Given the description of an element on the screen output the (x, y) to click on. 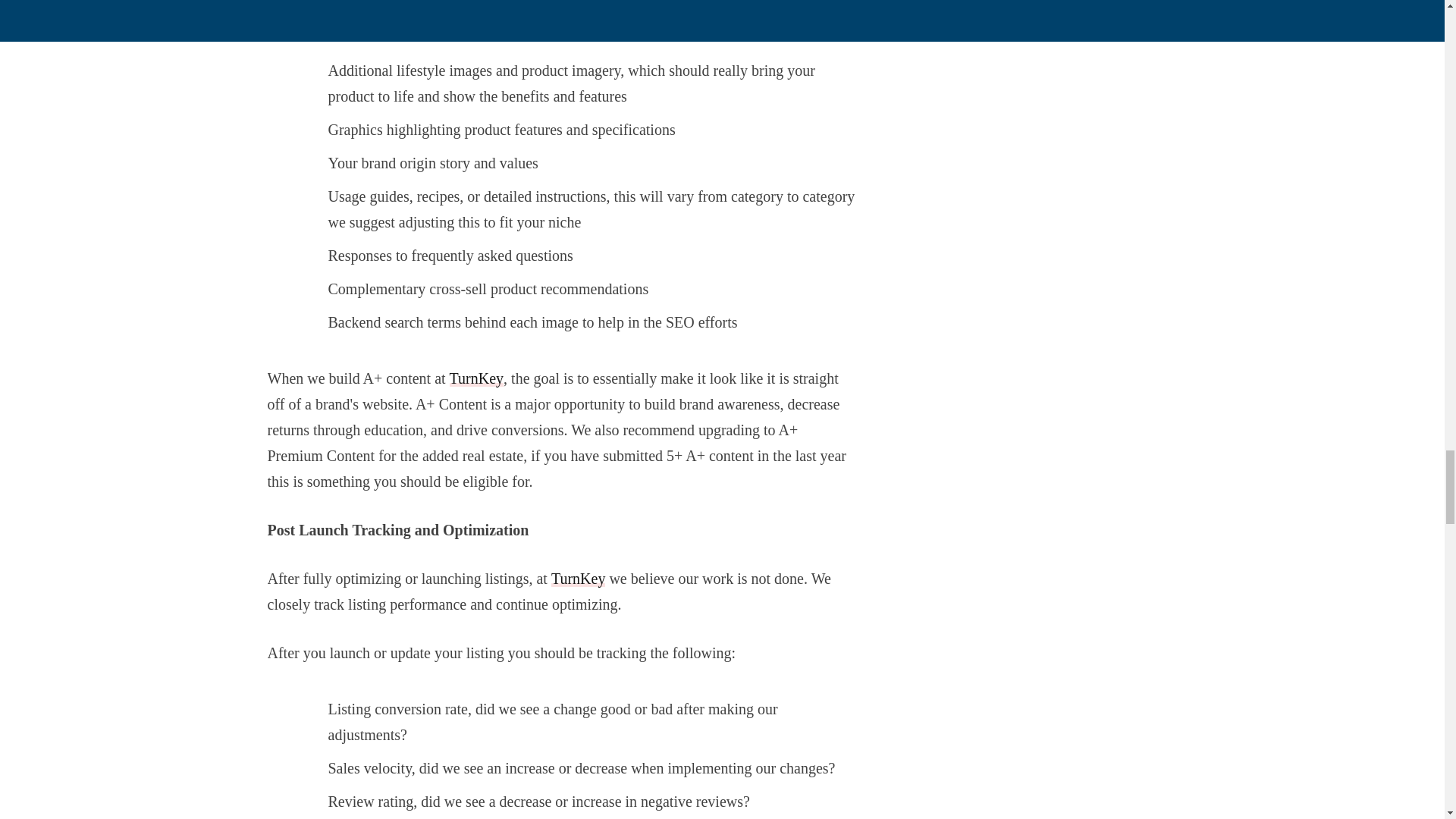
TurnKey (578, 578)
TurnKey (476, 378)
